Given the description of an element on the screen output the (x, y) to click on. 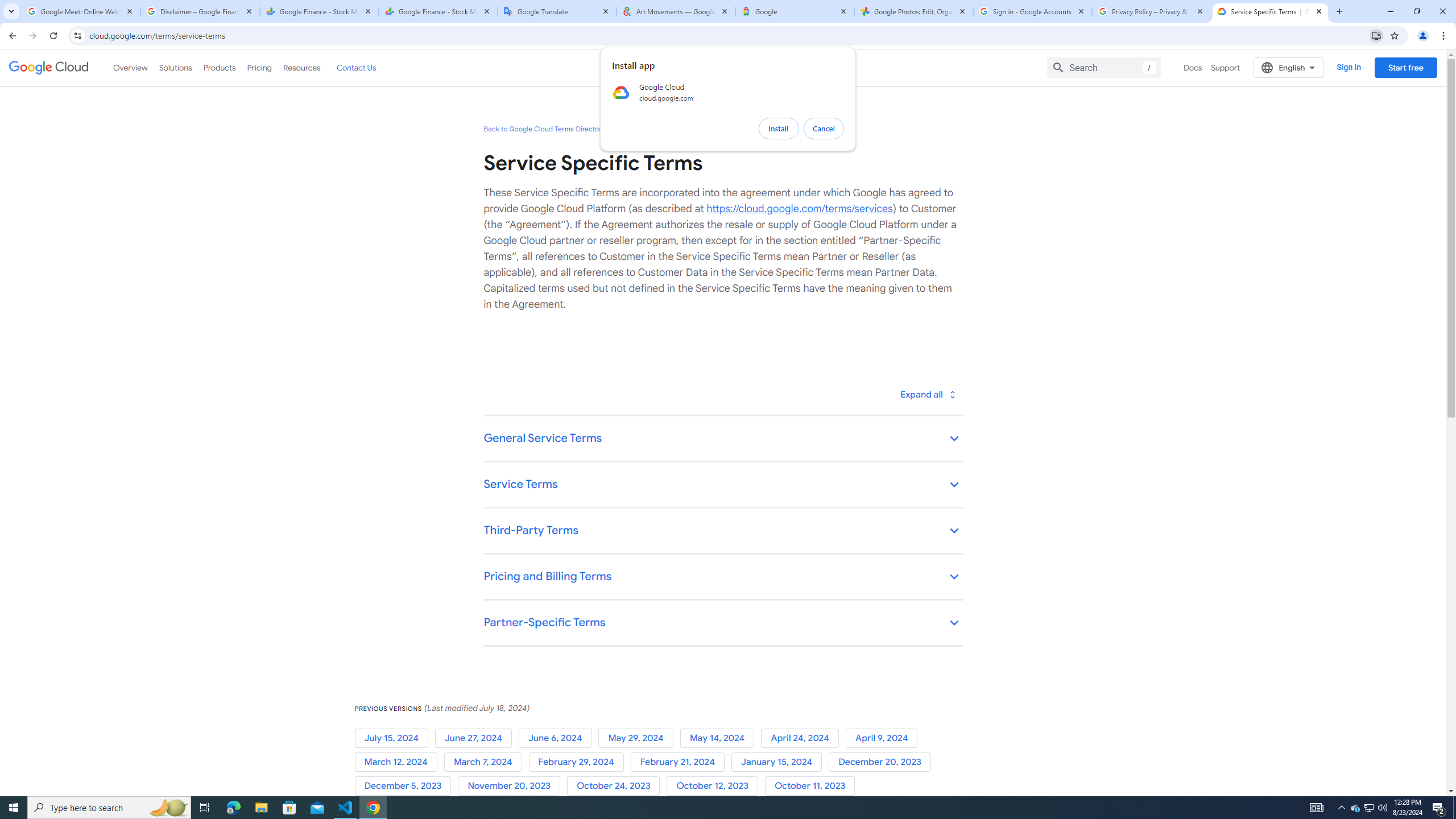
Google Cloud (48, 67)
Service Terms keyboard_arrow_down (722, 485)
May 29, 2024 (638, 737)
Pricing (259, 67)
